Given the description of an element on the screen output the (x, y) to click on. 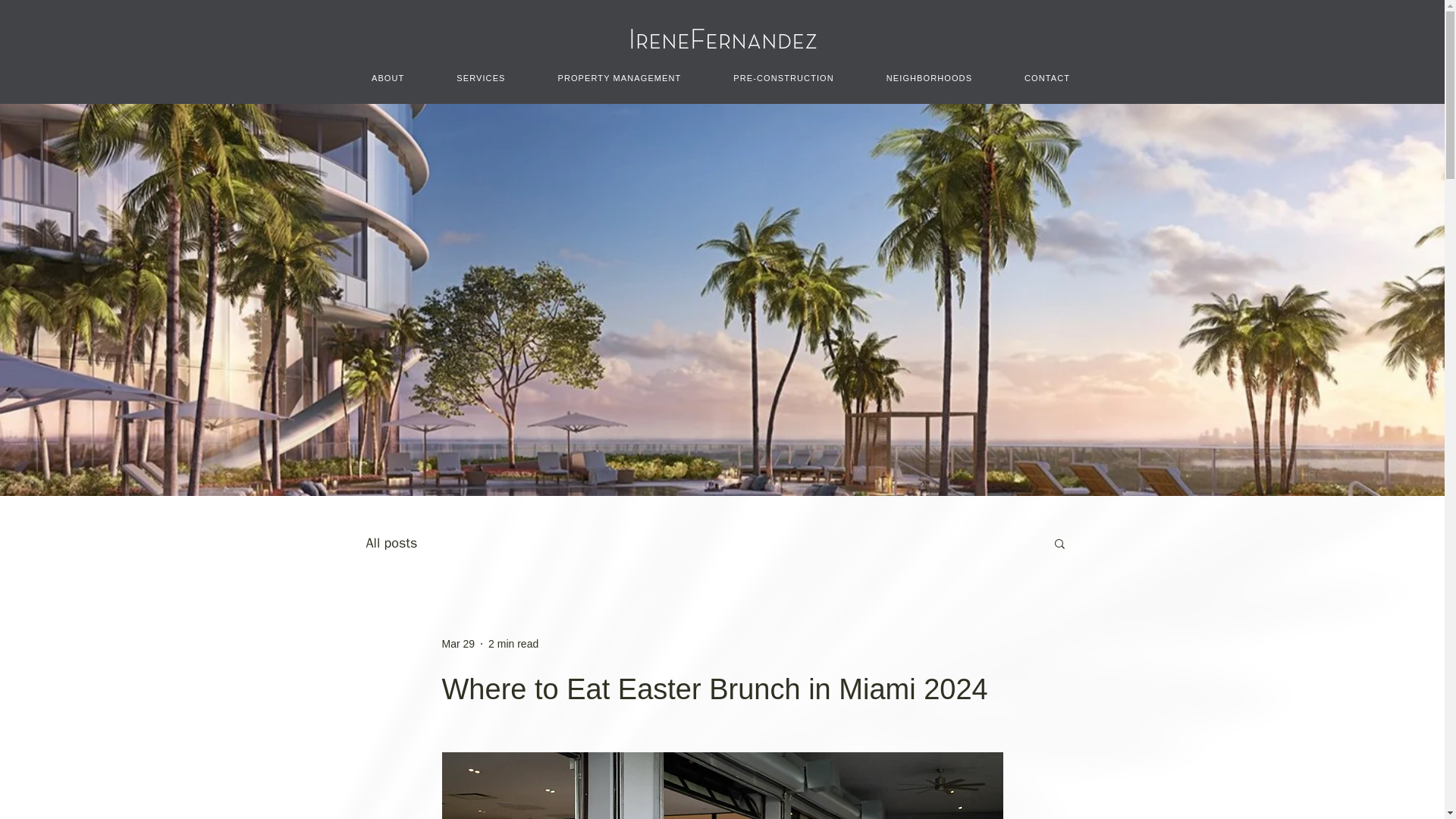
PROPERTY MANAGEMENT (619, 78)
ABOUT (387, 78)
2 min read (512, 643)
SERVICES (480, 78)
NEIGHBORHOODS (928, 78)
Mar 29 (457, 643)
CONTACT (1047, 78)
All posts (390, 542)
Irene Fernandez Luxury Miami Real Estate Agent (722, 39)
PRE-CONSTRUCTION (783, 78)
